Given the description of an element on the screen output the (x, y) to click on. 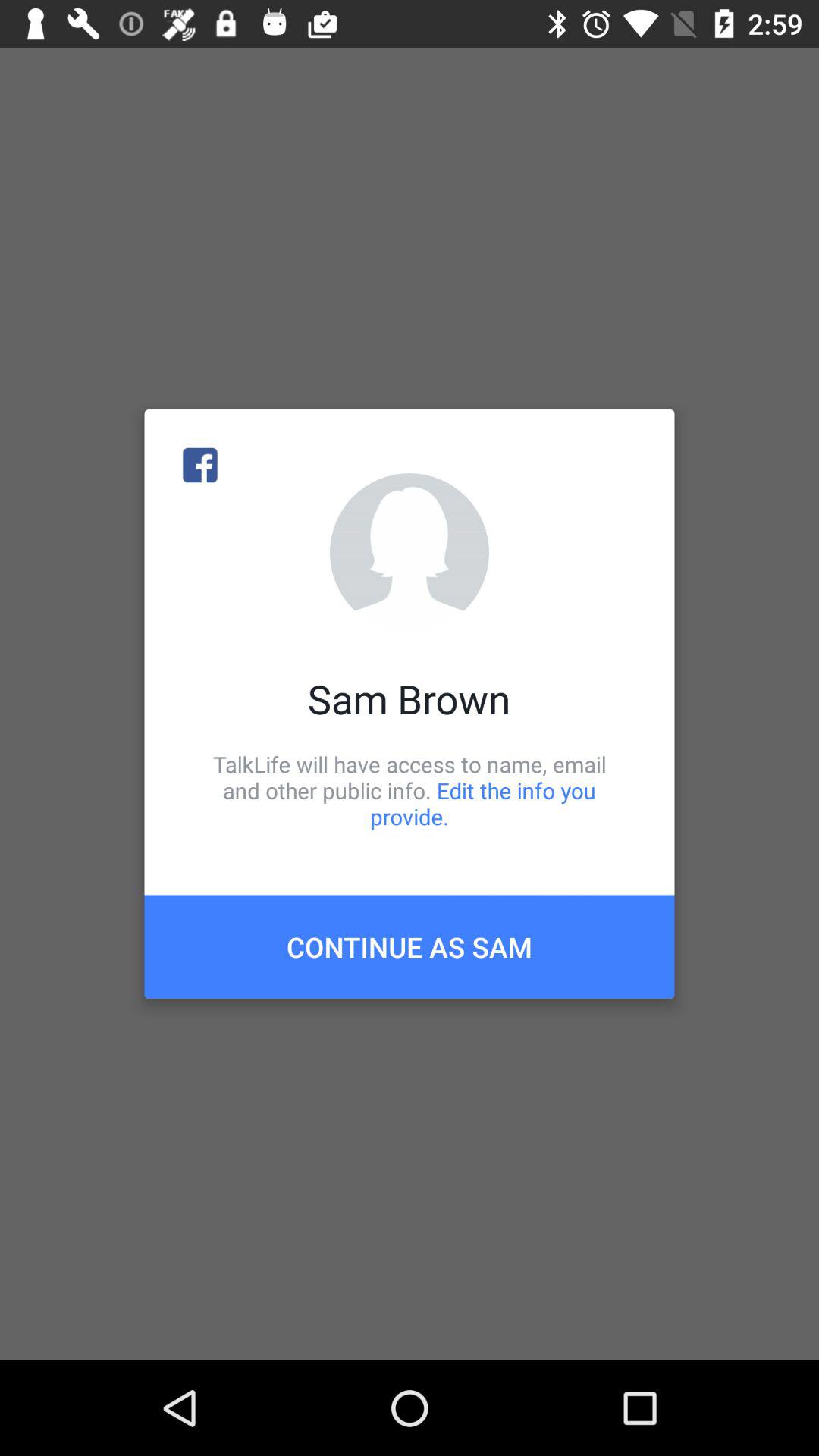
turn on talklife will have icon (409, 790)
